Given the description of an element on the screen output the (x, y) to click on. 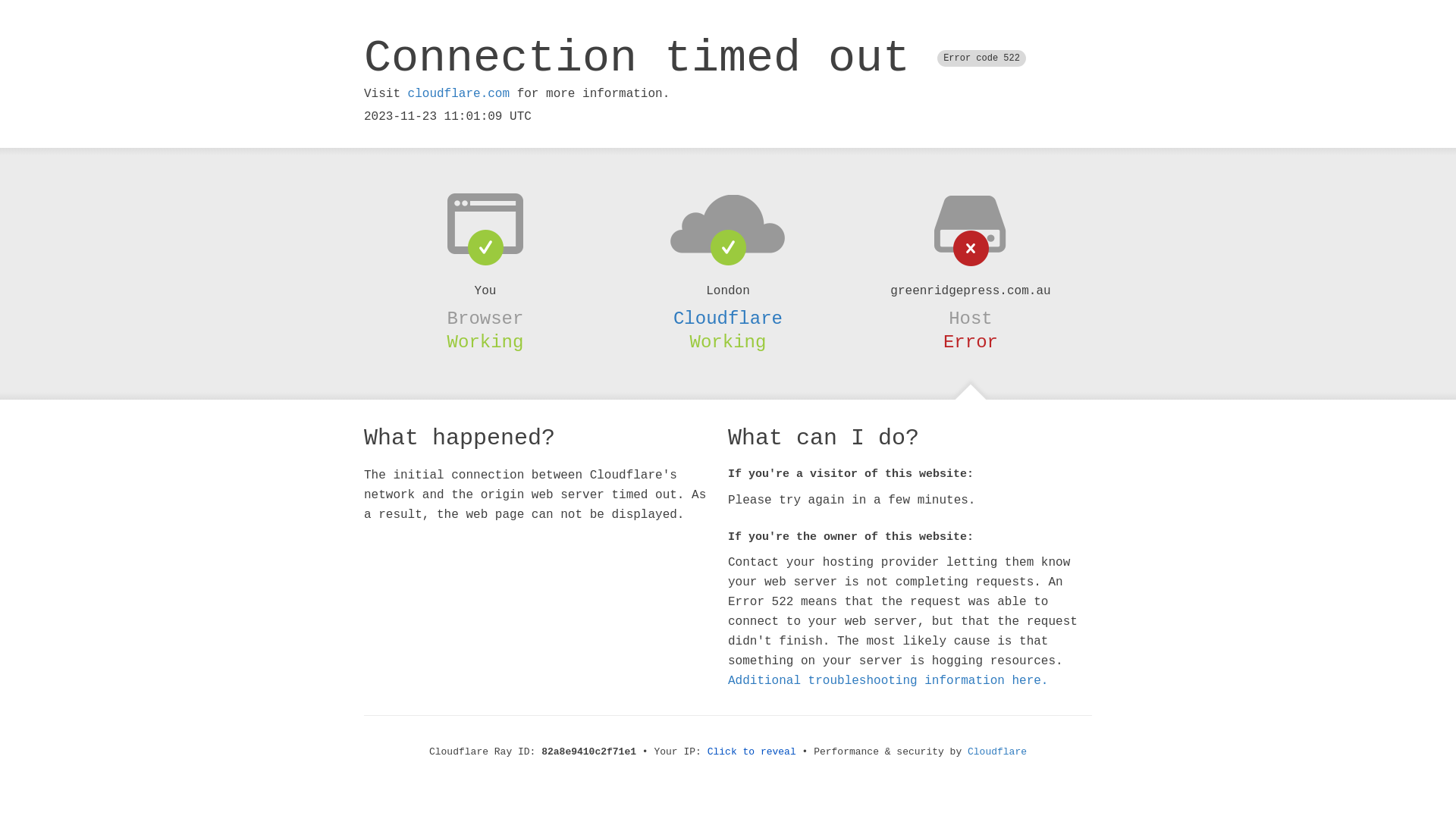
Cloudflare Element type: text (996, 751)
Cloudflare Element type: text (727, 318)
Additional troubleshooting information here. Element type: text (888, 680)
Click to reveal Element type: text (751, 751)
cloudflare.com Element type: text (458, 93)
